Given the description of an element on the screen output the (x, y) to click on. 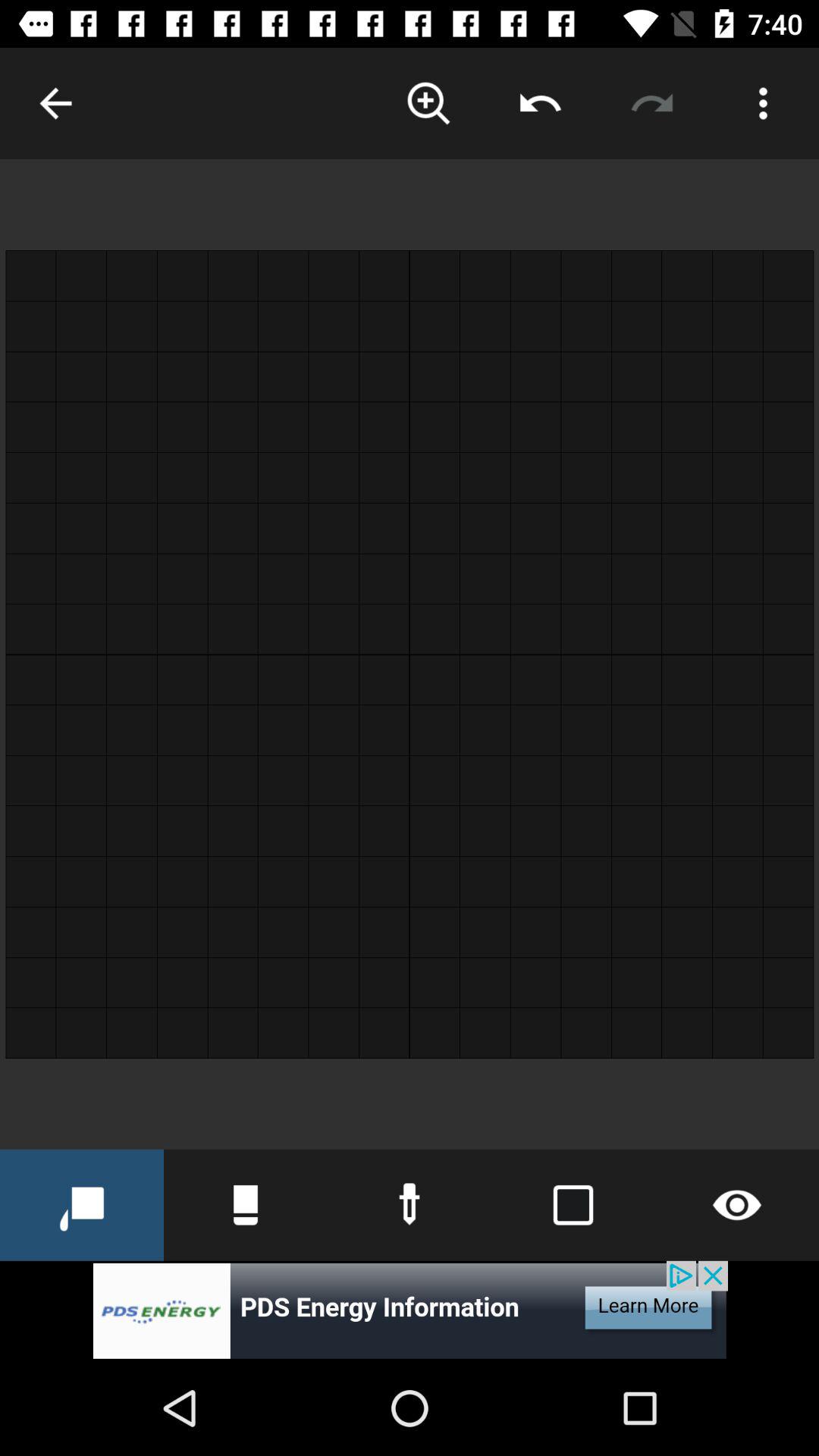
advertisement (409, 1310)
